Given the description of an element on the screen output the (x, y) to click on. 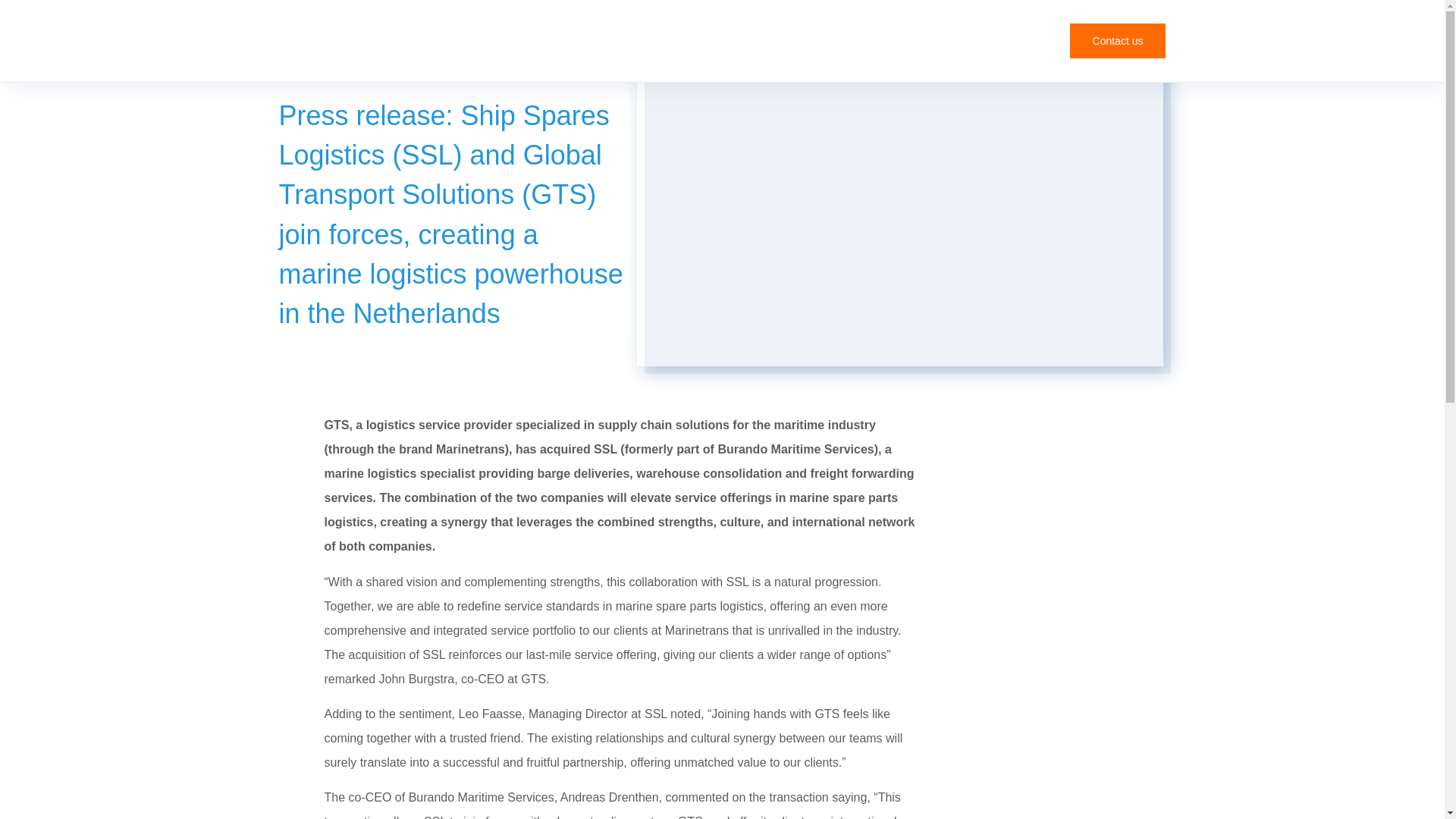
Contact us (1118, 40)
Newsroom (371, 64)
